Given the description of an element on the screen output the (x, y) to click on. 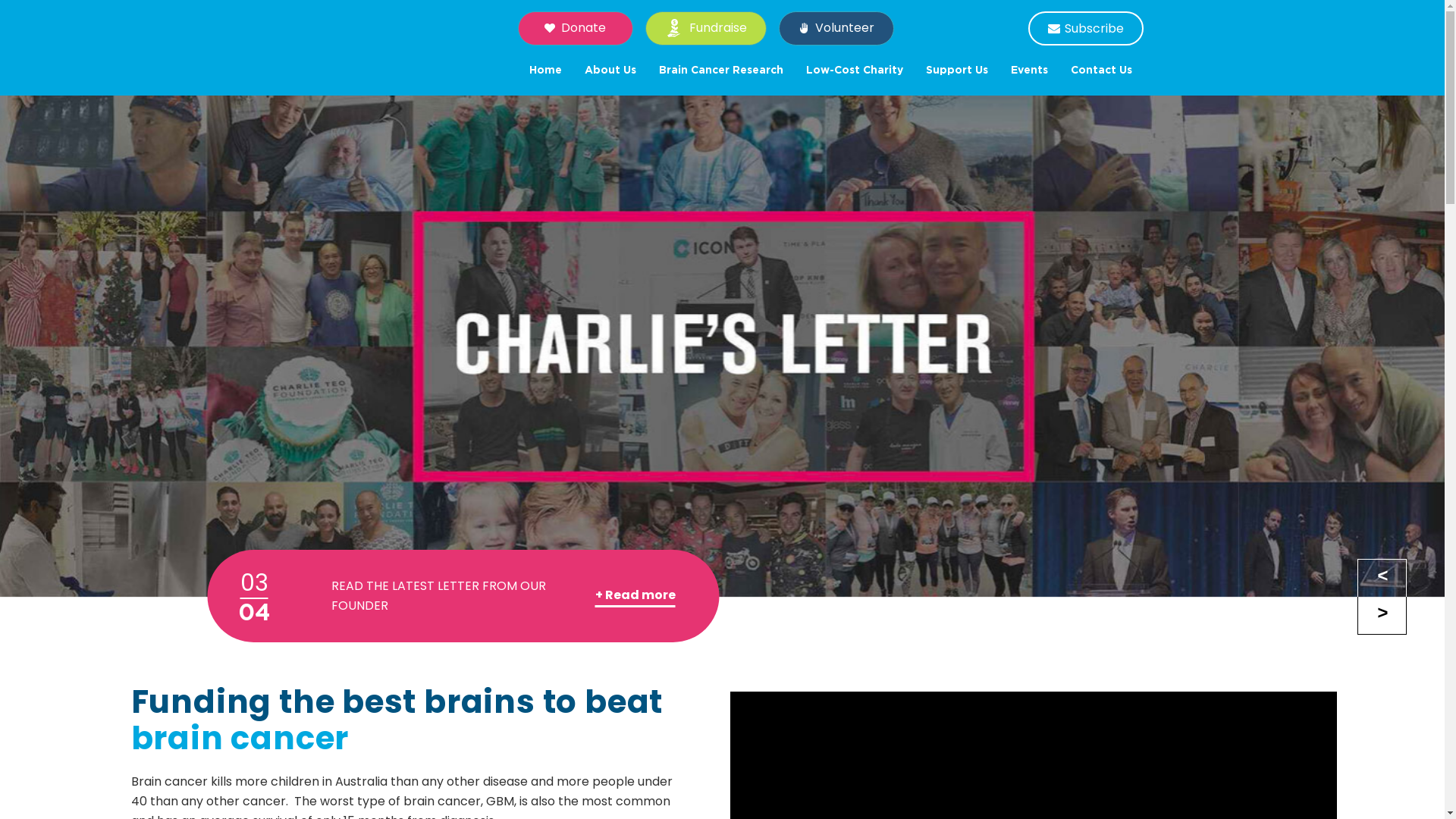
>
Next Element type: text (1381, 615)
Events Element type: text (1029, 70)
Volunteer Element type: text (835, 28)
Support Us Element type: text (956, 70)
+ Read more Element type: text (635, 596)
Low-Cost Charity Element type: text (854, 70)
Home Element type: text (544, 70)
About Us Element type: text (610, 70)
Donate Element type: text (574, 28)
Contact Us Element type: text (1100, 70)
Fundraise Element type: text (704, 28)
<
Previous Element type: text (1381, 577)
Subscribe Element type: text (1085, 28)
Brain Cancer Research Element type: text (720, 70)
